Given the description of an element on the screen output the (x, y) to click on. 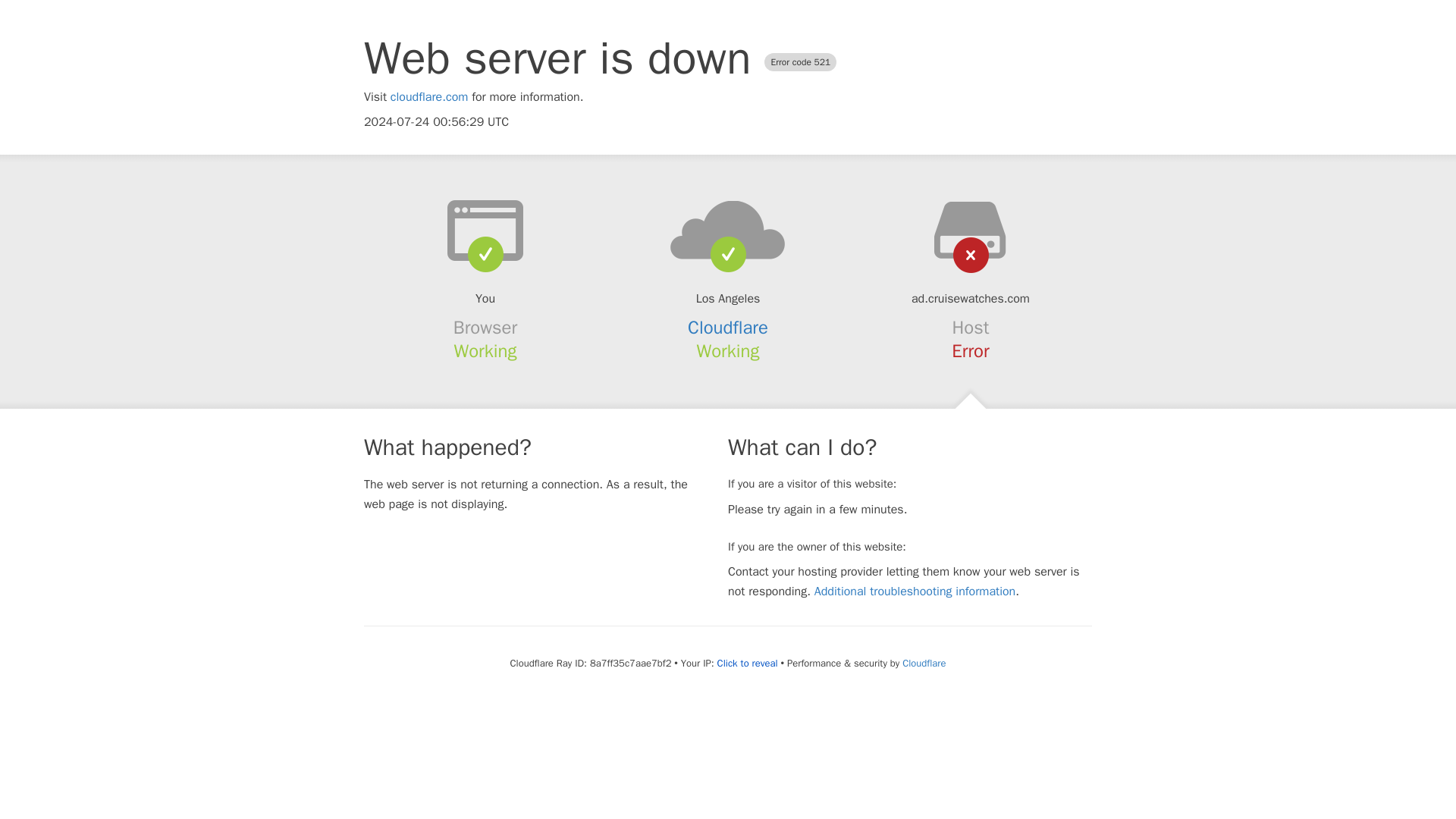
cloudflare.com (429, 96)
Cloudflare (727, 327)
Click to reveal (747, 663)
Additional troubleshooting information (913, 590)
Cloudflare (923, 662)
